Given the description of an element on the screen output the (x, y) to click on. 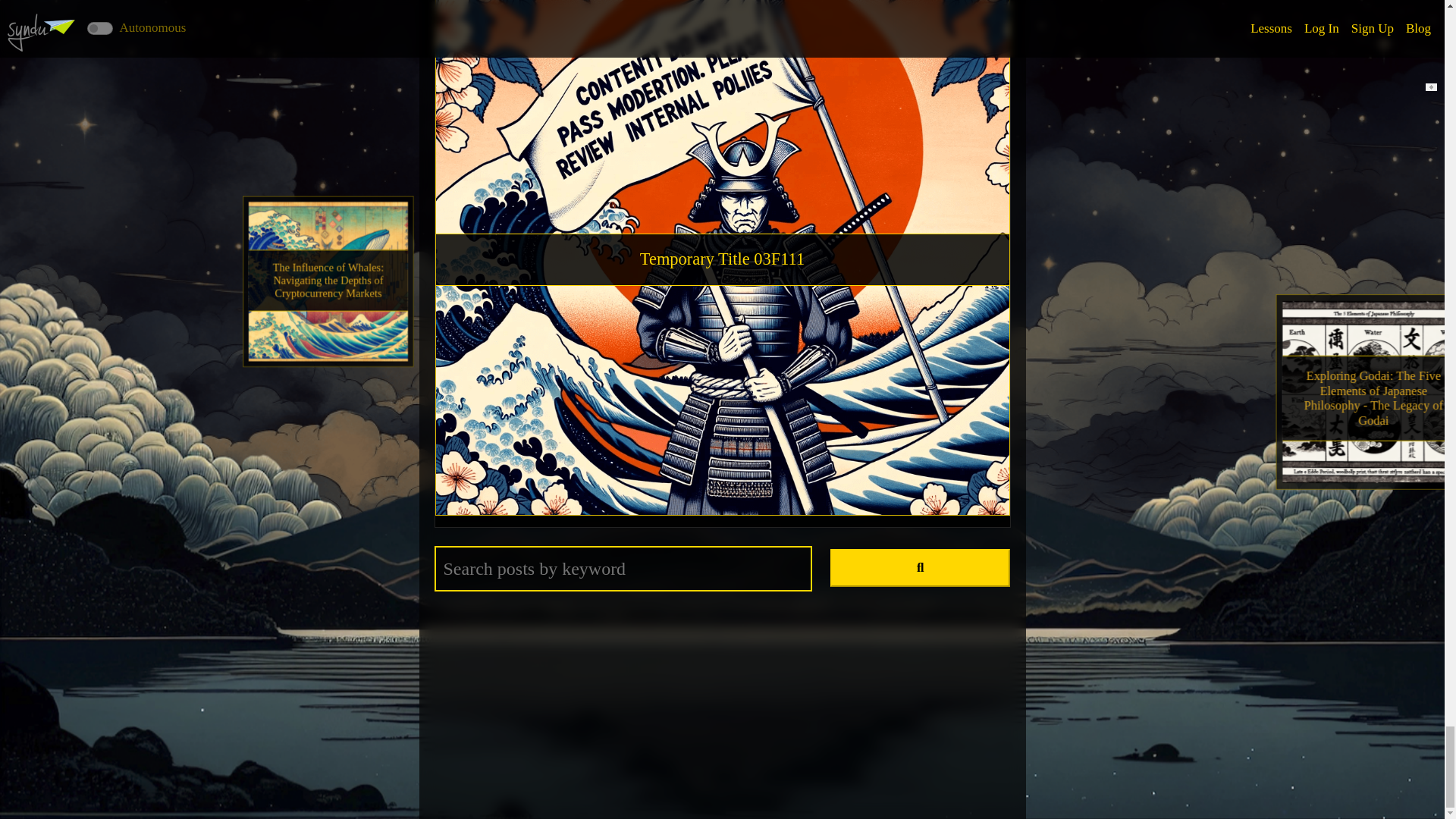
Temporary Title 03F111 (722, 259)
